Given the description of an element on the screen output the (x, y) to click on. 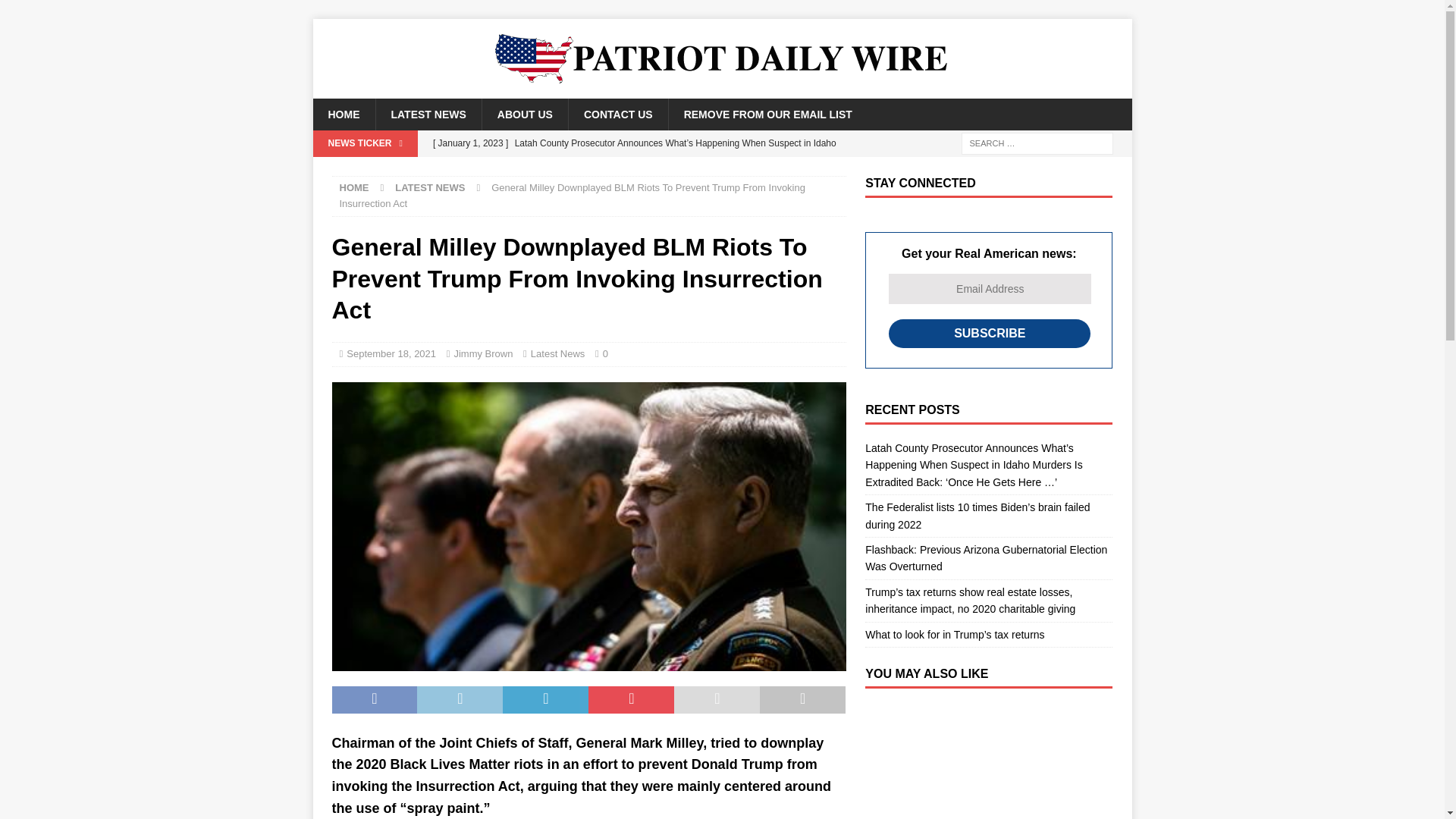
LATEST NEWS (429, 187)
HOME (343, 114)
LATEST NEWS (427, 114)
Jimmy Brown (482, 353)
CONTACT US (617, 114)
0 (608, 353)
Subscribe (989, 333)
HOME (354, 187)
Latest News (558, 353)
September 18, 2021 (390, 353)
REMOVE FROM OUR EMAIL LIST (767, 114)
Subscribe (989, 333)
Search (56, 11)
